Given the description of an element on the screen output the (x, y) to click on. 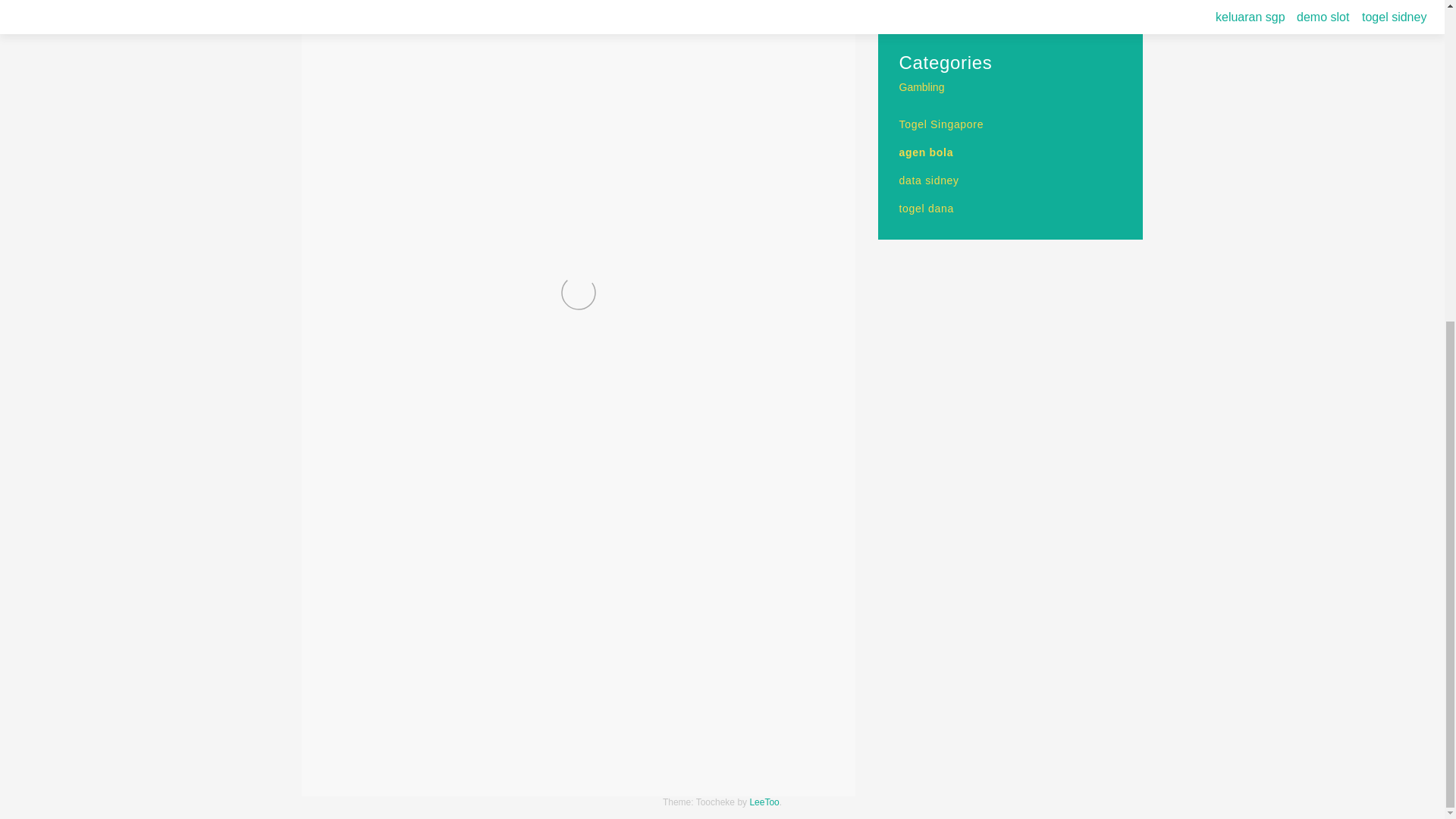
LeeToo (763, 801)
The Popularity of the Lottery (965, 22)
Togel Singapore (941, 123)
agen bola (926, 152)
 How to Choose a Casino Online (424, 762)
Gambling (921, 87)
data sidney (929, 180)
What Is a Slot? (935, 6)
togel dana (926, 208)
What is a Lottery?  (767, 762)
